Given the description of an element on the screen output the (x, y) to click on. 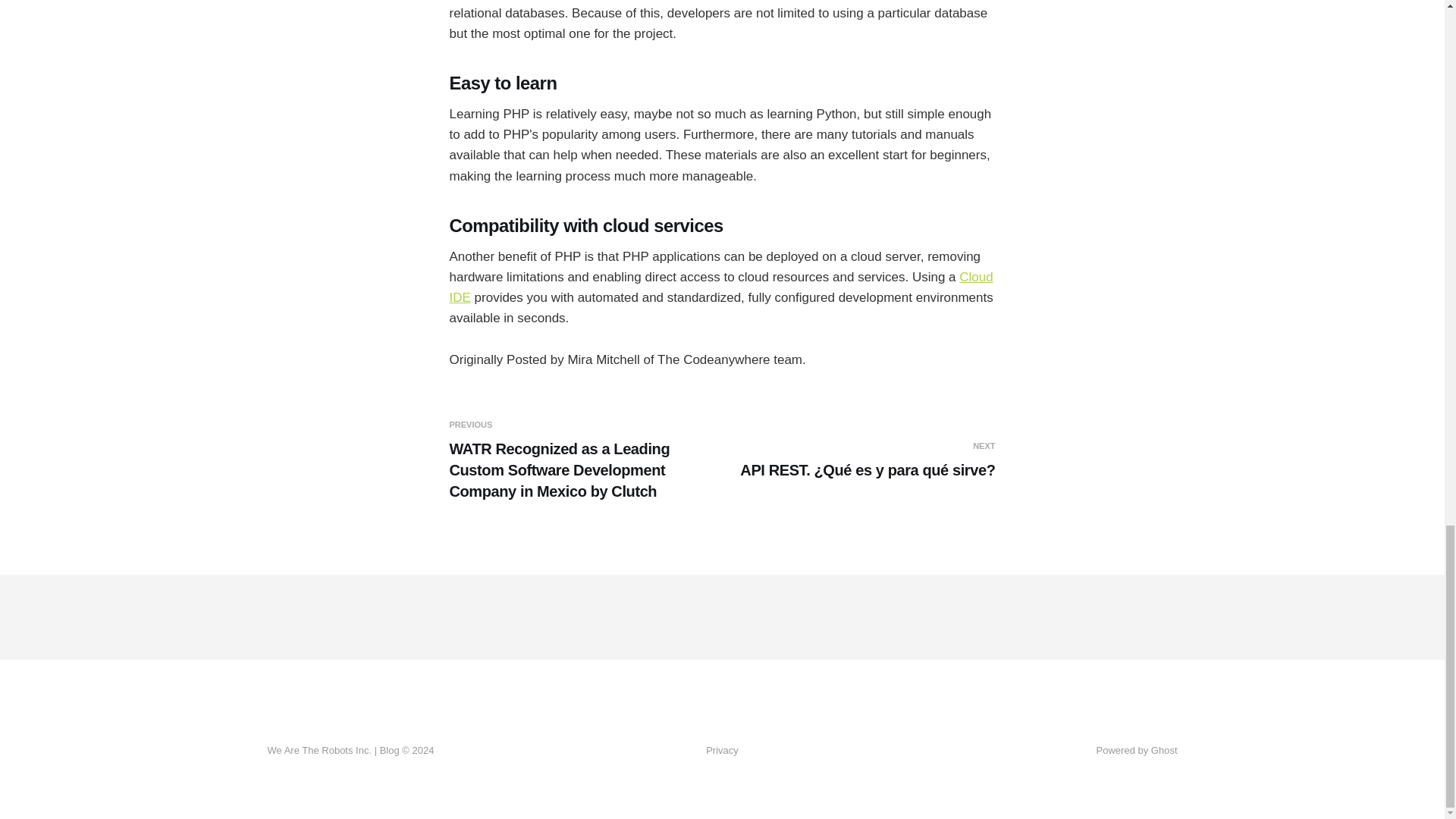
Powered by Ghost (1136, 749)
Privacy (722, 750)
Cloud IDE (720, 287)
